Given the description of an element on the screen output the (x, y) to click on. 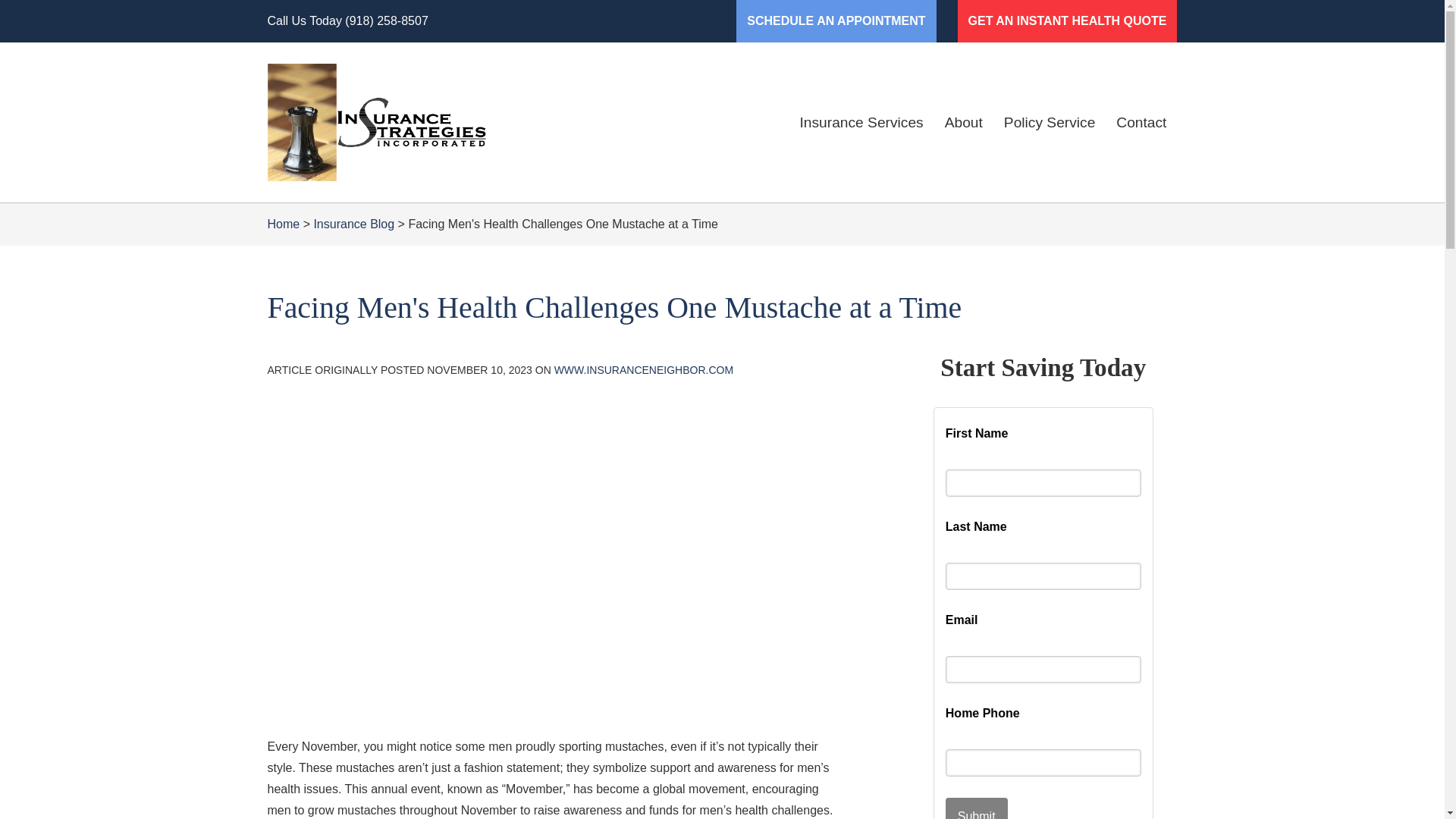
Home (282, 223)
Insurance Blog (353, 223)
Insurance Services (861, 122)
Policy Service (1049, 122)
Insurance Strategies, Inc., Tulsa (375, 121)
About (963, 122)
Contact (1140, 122)
